Given the description of an element on the screen output the (x, y) to click on. 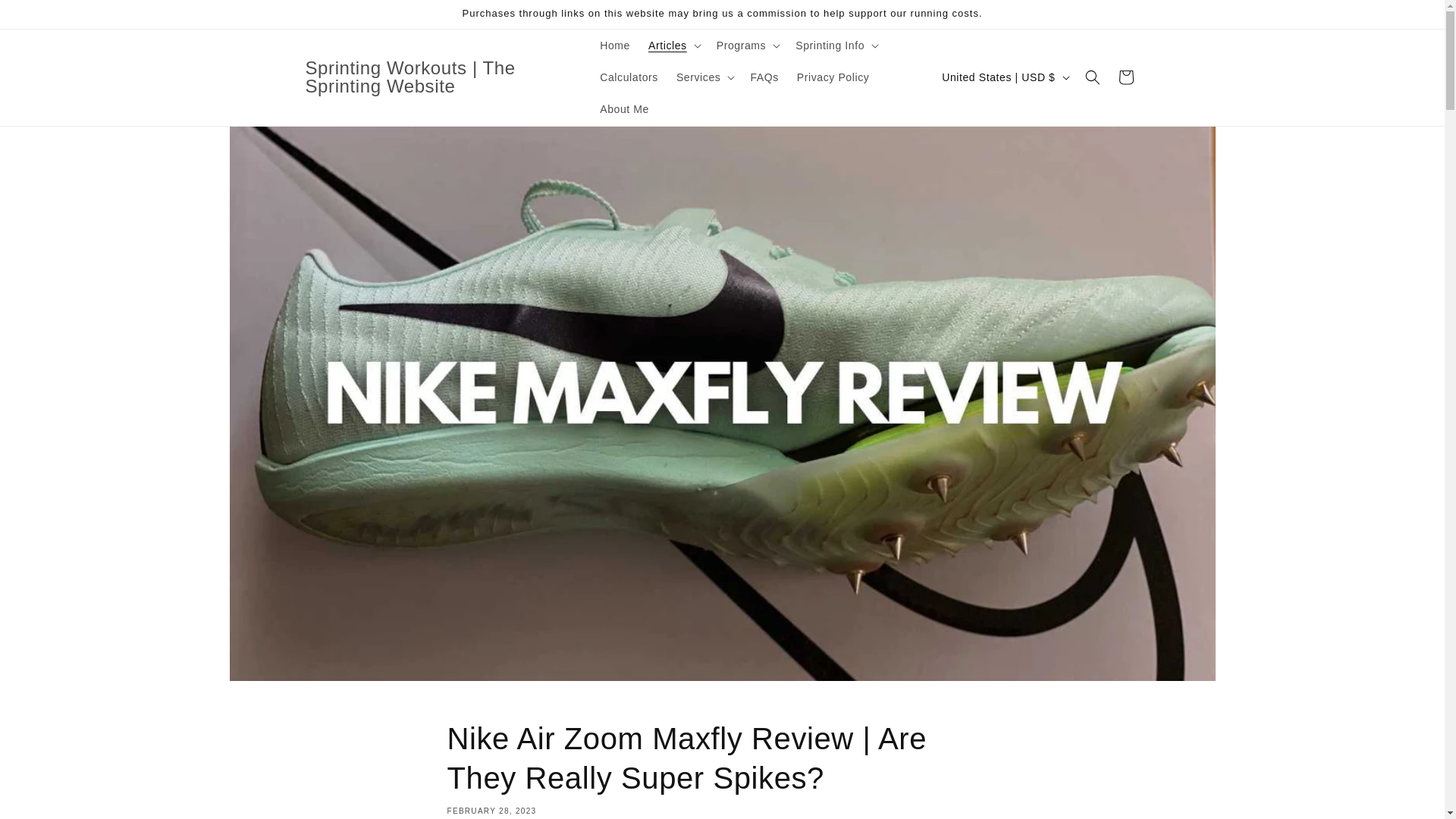
Skip to content (45, 17)
